Given the description of an element on the screen output the (x, y) to click on. 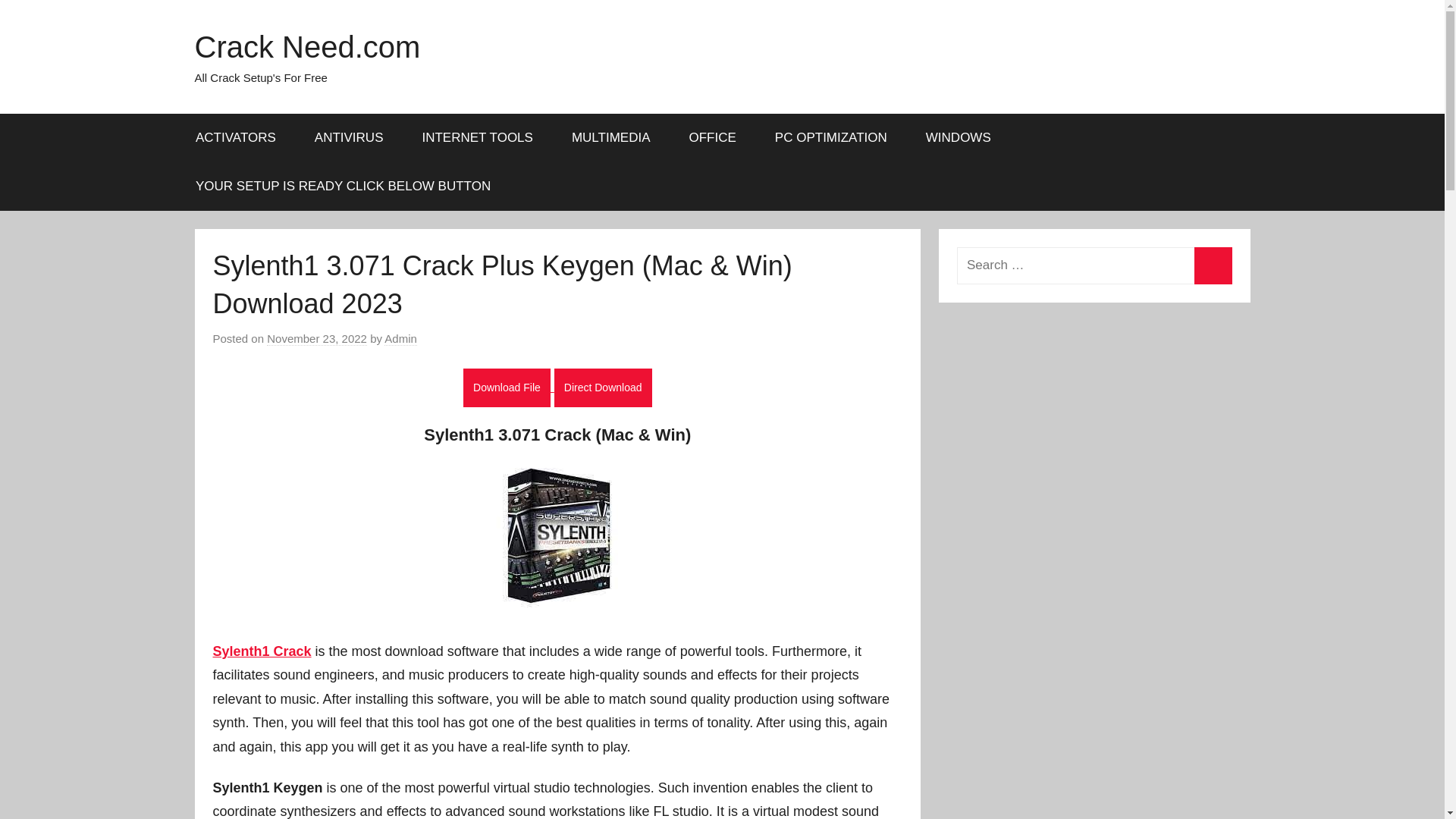
WINDOWS (957, 137)
ANTIVIRUS (349, 137)
Admin (400, 338)
View all posts by Admin (400, 338)
November 23, 2022 (316, 338)
ACTIVATORS (235, 137)
OFFICE (712, 137)
PC OPTIMIZATION (830, 137)
INTERNET TOOLS (477, 137)
Download File (506, 387)
